Given the description of an element on the screen output the (x, y) to click on. 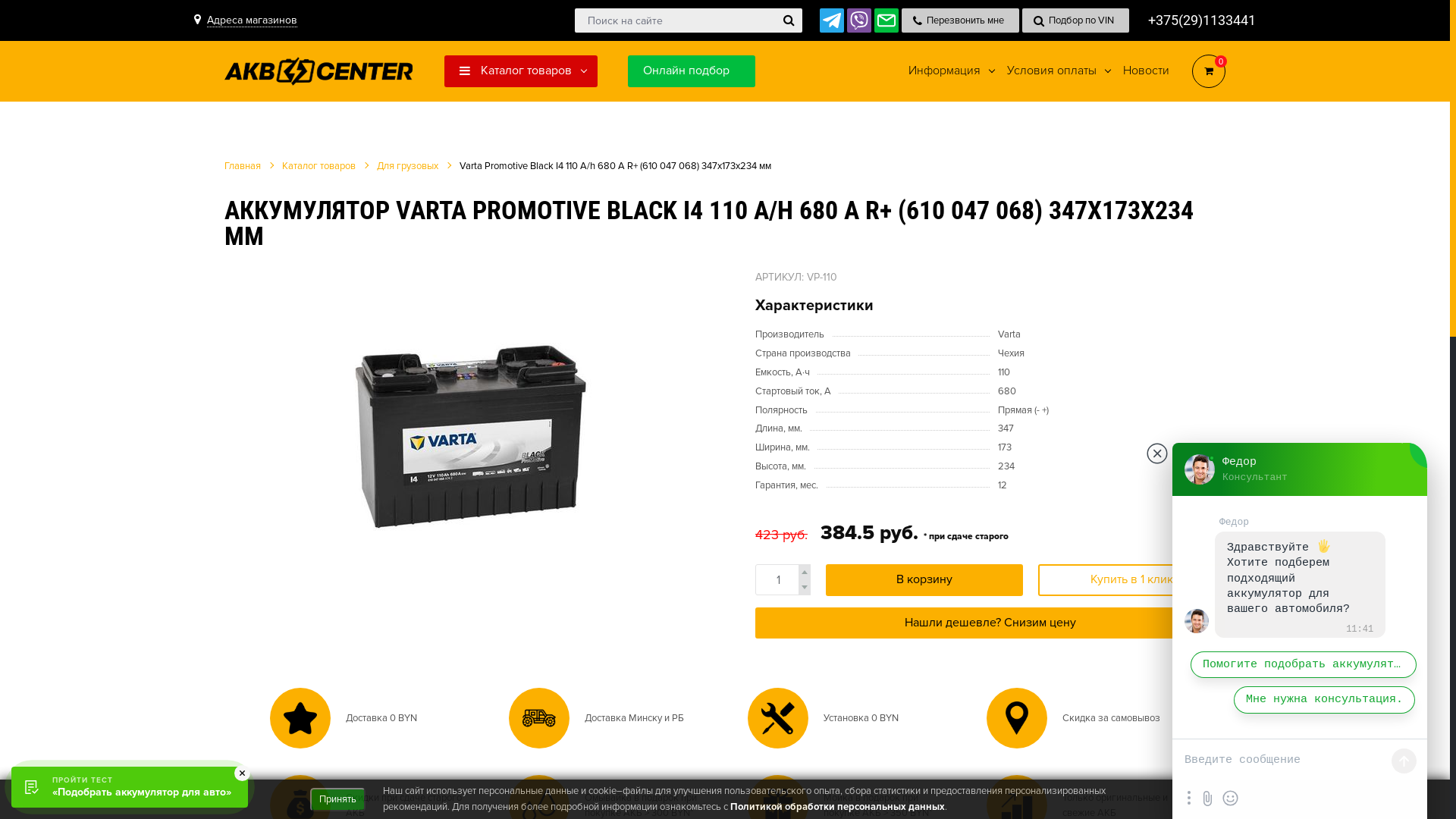
+375(29)1133441 Element type: text (1201, 20)
telegram Element type: hover (831, 20)
email Element type: hover (886, 20)
viber Element type: hover (859, 20)
